Given the description of an element on the screen output the (x, y) to click on. 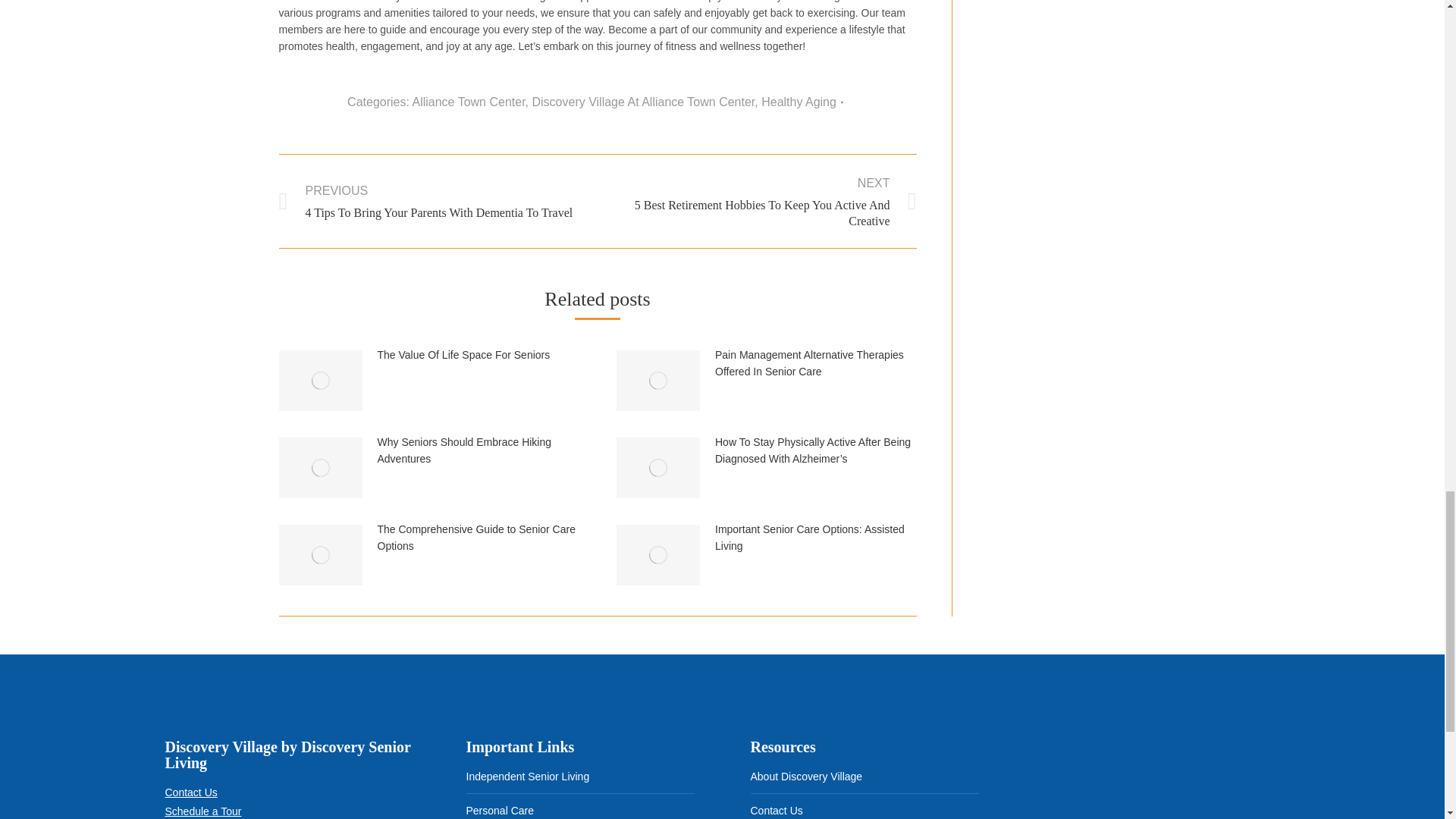
Discovery Map (1148, 779)
